Given the description of an element on the screen output the (x, y) to click on. 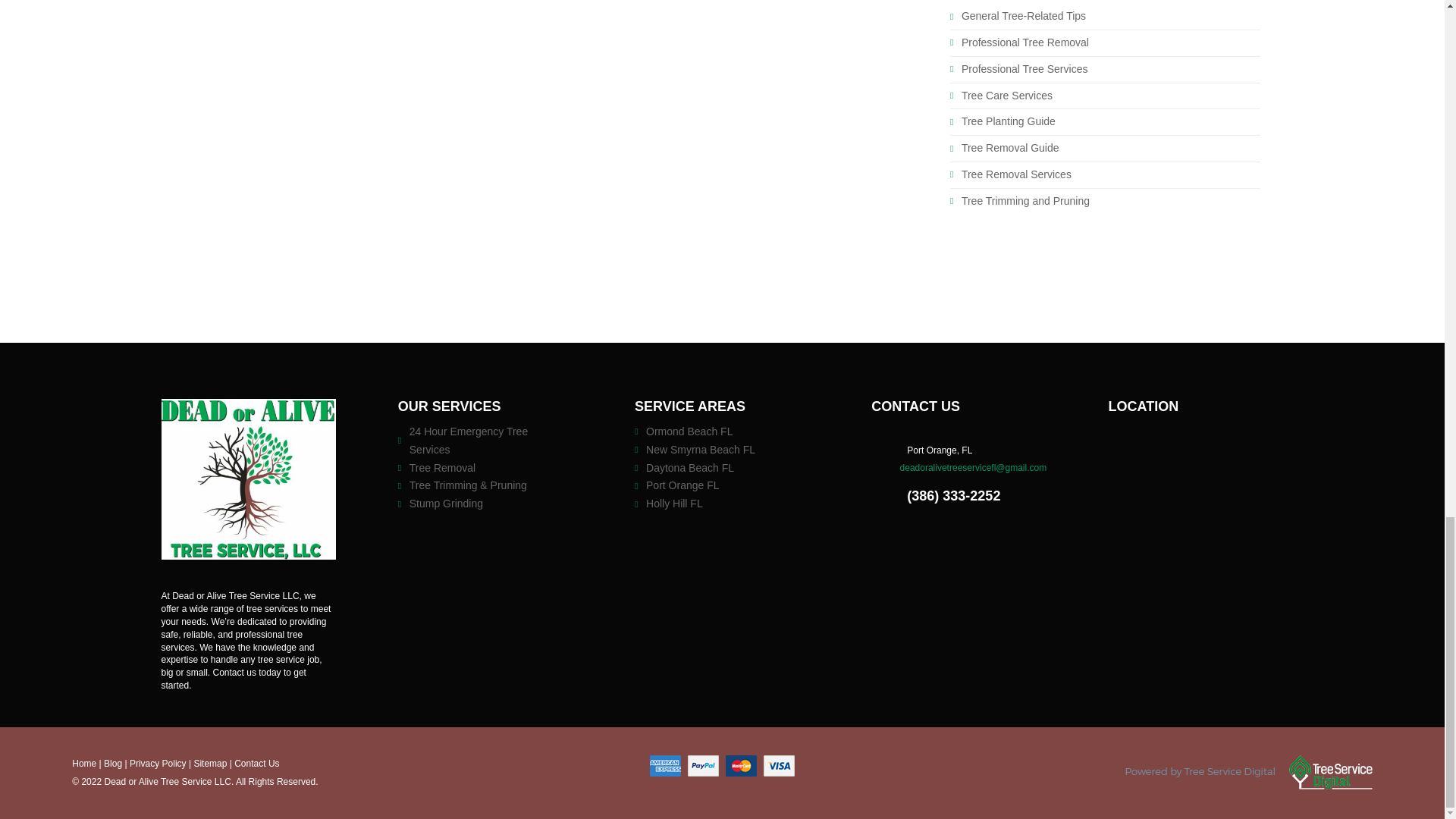
Tree Planting Guide (1007, 121)
General Tree-Related Tips (1023, 15)
Tree Trimming and Pruning (1024, 200)
Professional Tree Services (1023, 69)
admin-ajax (248, 478)
Tree Care Services (1006, 95)
Tree Removal Services (1015, 174)
Tree Removal Guide (1009, 147)
Professional Tree Removal (1024, 42)
tsd logo (1249, 772)
